Given the description of an element on the screen output the (x, y) to click on. 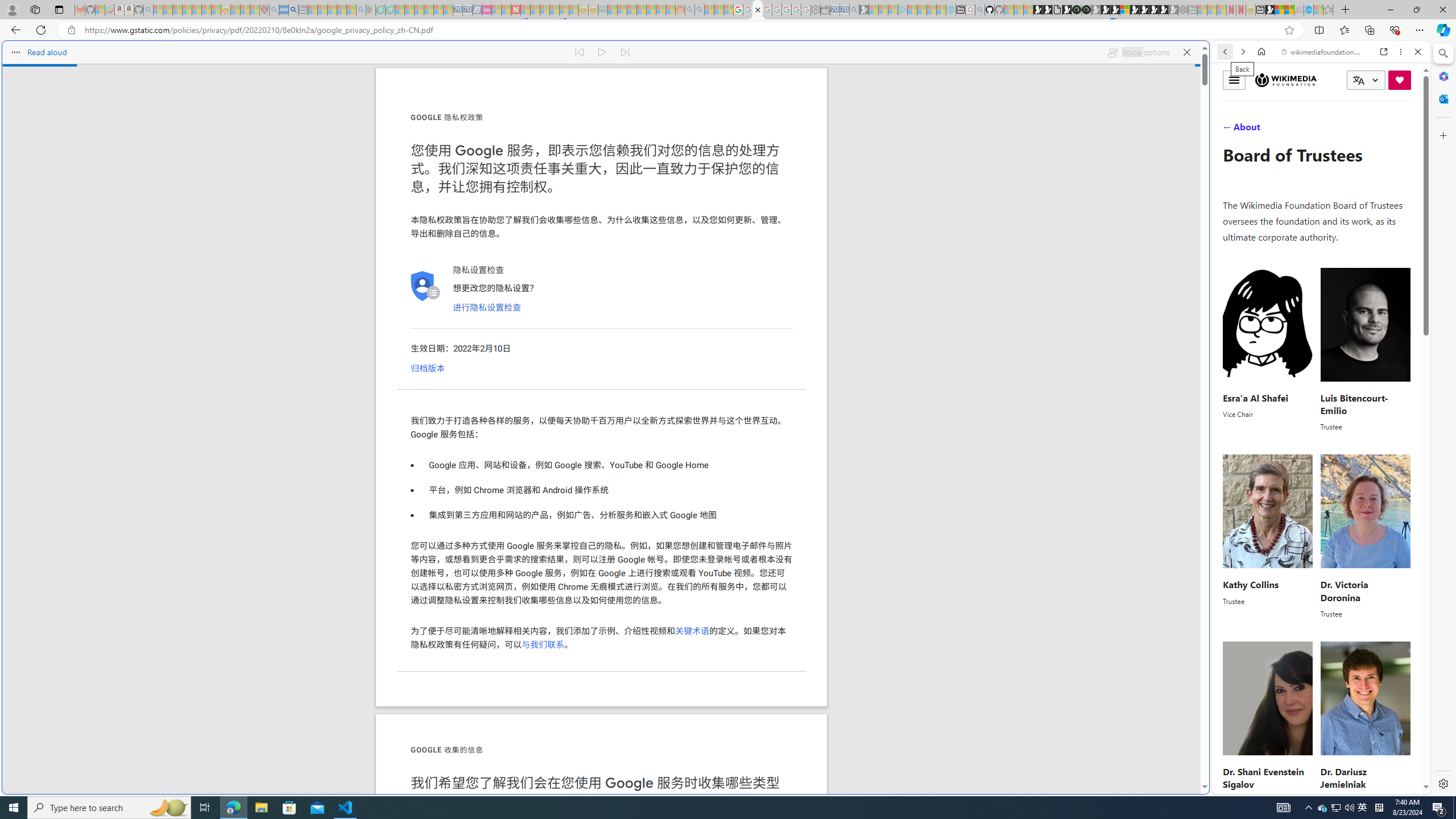
Dr. Dariusz JemielniakTrustee (1365, 723)
